Given the description of an element on the screen output the (x, y) to click on. 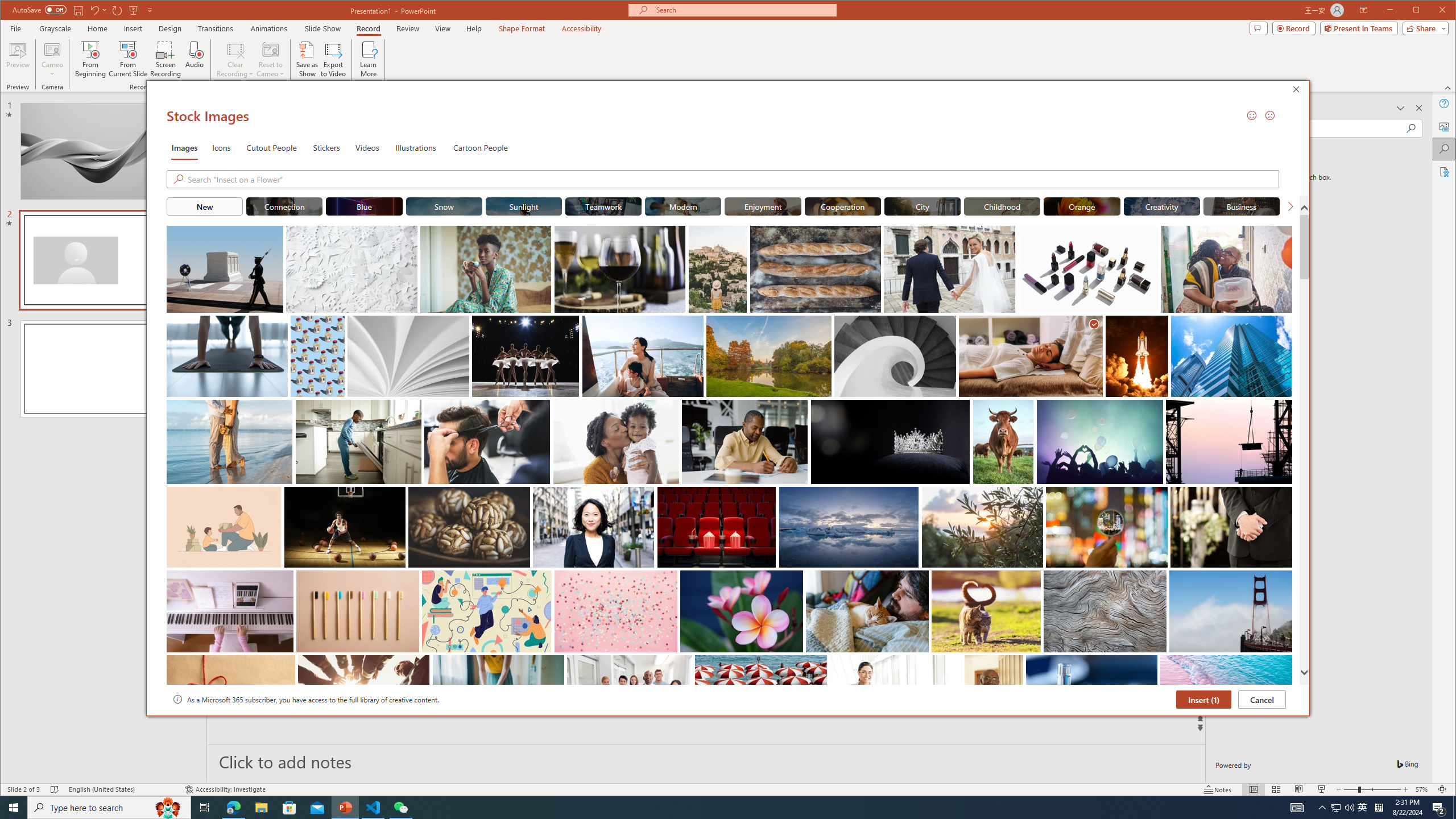
"Enjoyment" Stock Images. (762, 206)
Zoom 57% (1422, 789)
Videos (367, 147)
